Given the description of an element on the screen output the (x, y) to click on. 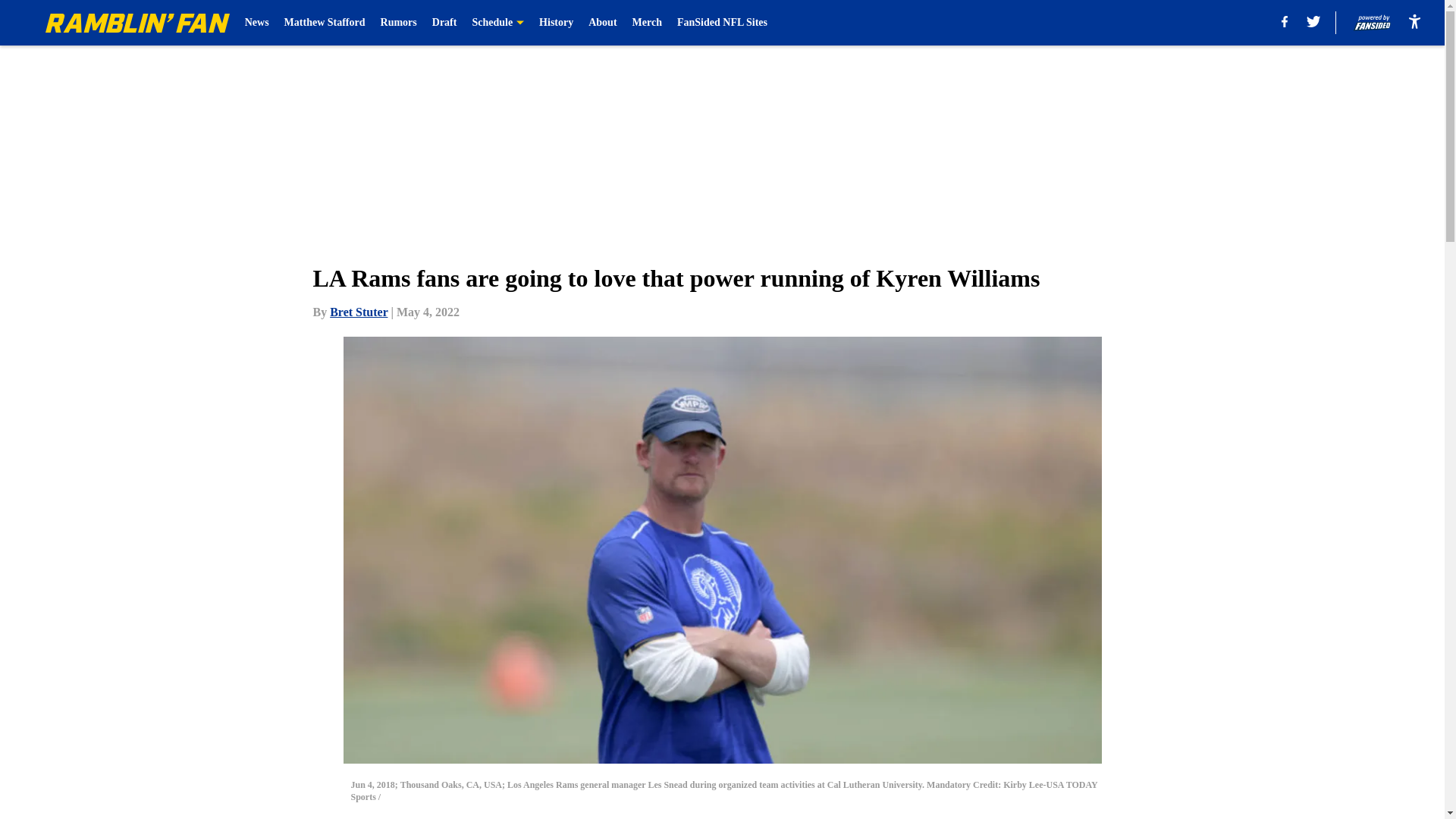
Merch (646, 22)
History (555, 22)
About (601, 22)
FanSided NFL Sites (722, 22)
Draft (444, 22)
News (256, 22)
Matthew Stafford (324, 22)
Rumors (398, 22)
Bret Stuter (358, 311)
